Given the description of an element on the screen output the (x, y) to click on. 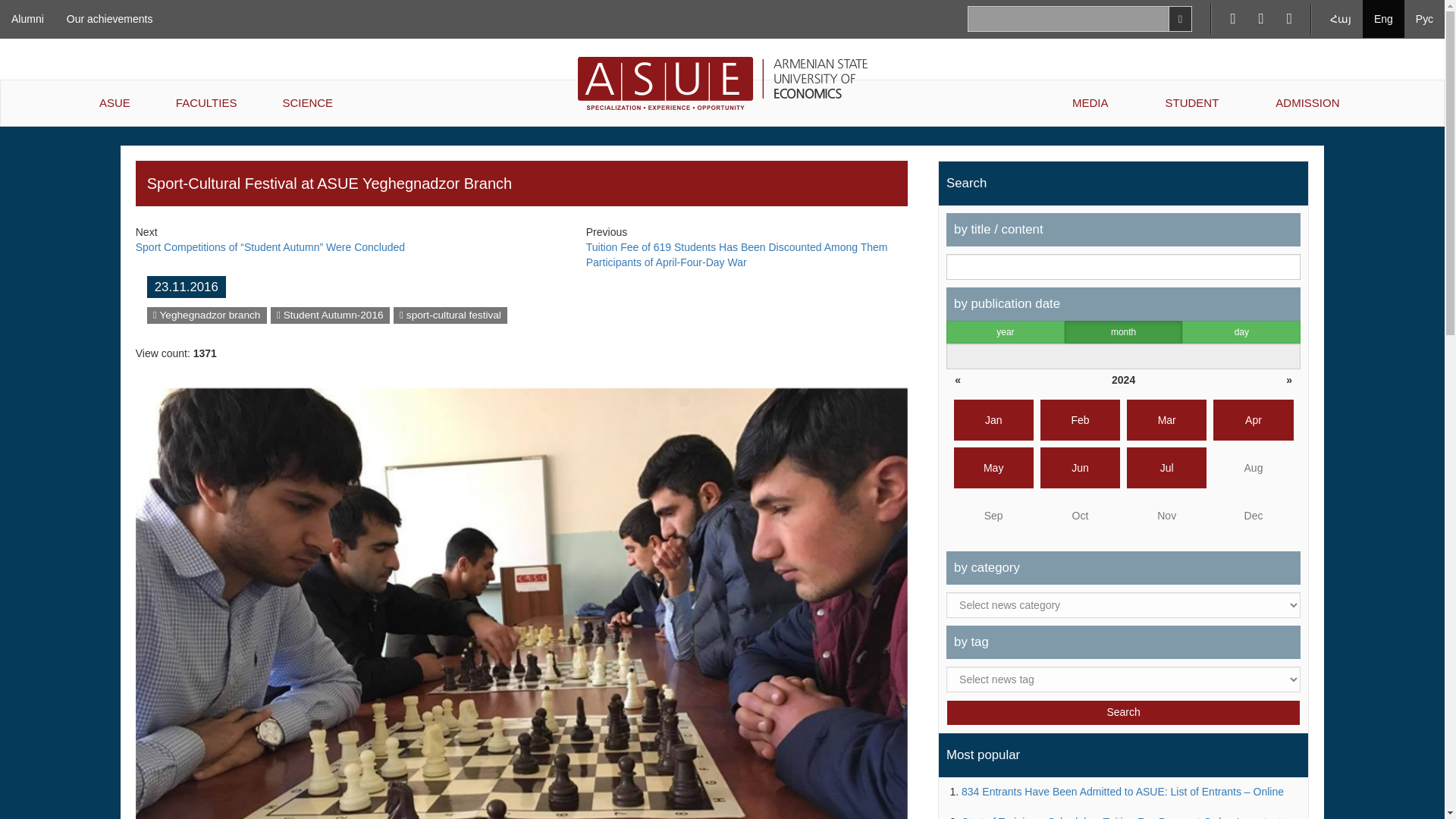
Alumni (27, 18)
2 (1239, 333)
Website name (206, 315)
Website name (449, 315)
0 (1000, 333)
Our achievements (109, 18)
Website name (330, 315)
1 (1115, 333)
